Given the description of an element on the screen output the (x, y) to click on. 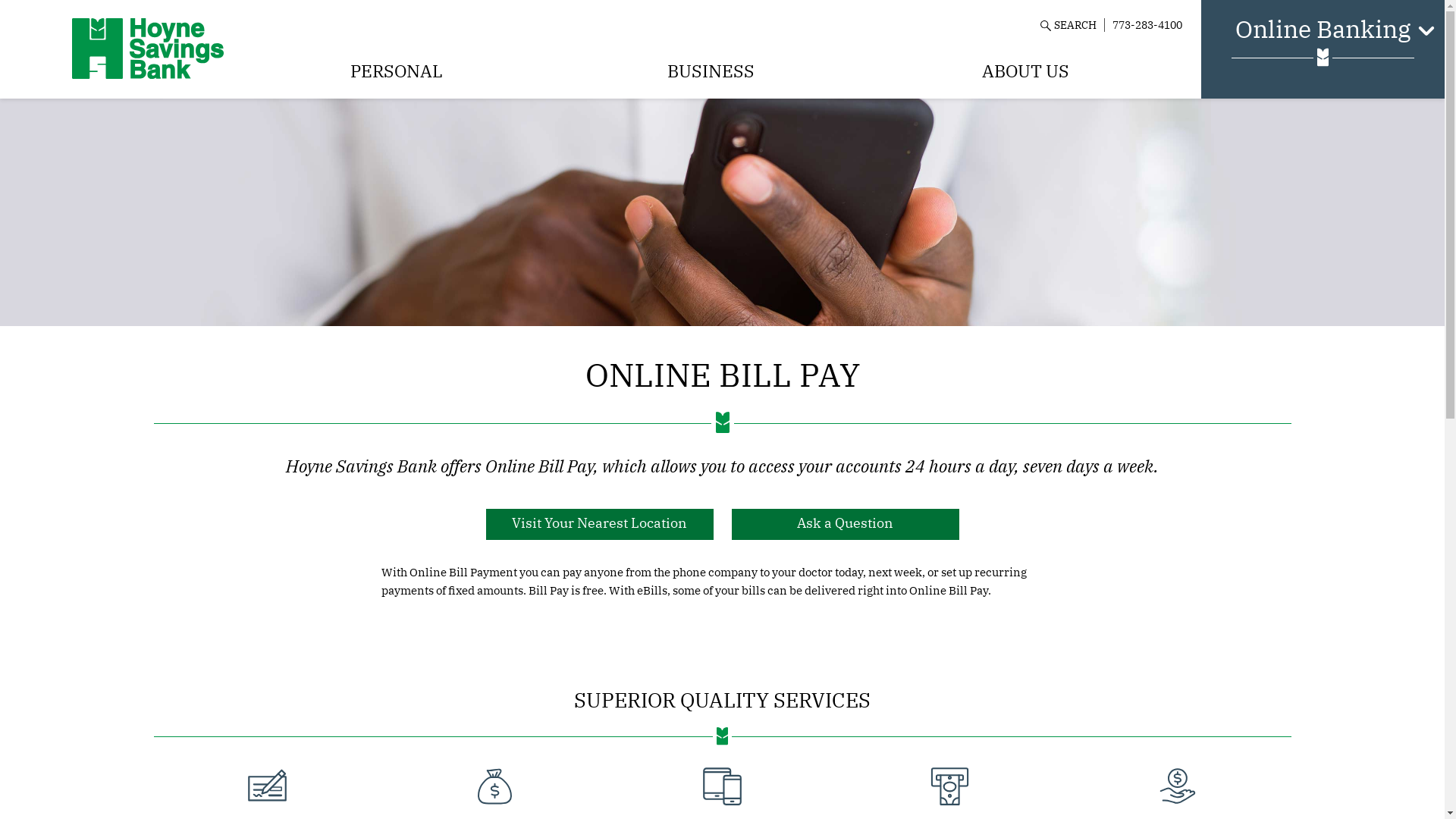
Ask a Question Element type: text (844, 523)
SEARCH Element type: text (1072, 24)
BUSINESS Element type: text (710, 70)
checking Element type: hover (267, 786)
mobile Element type: hover (722, 786)
ABOUT US Element type: text (1025, 70)
savings_accts Element type: hover (494, 786)
773-283-4100 Element type: text (1147, 24)
atm Element type: hover (949, 786)
Visit Your Nearest Location Element type: text (598, 523)
PERSONAL Element type: text (395, 70)
open_account Element type: hover (1176, 786)
